Given the description of an element on the screen output the (x, y) to click on. 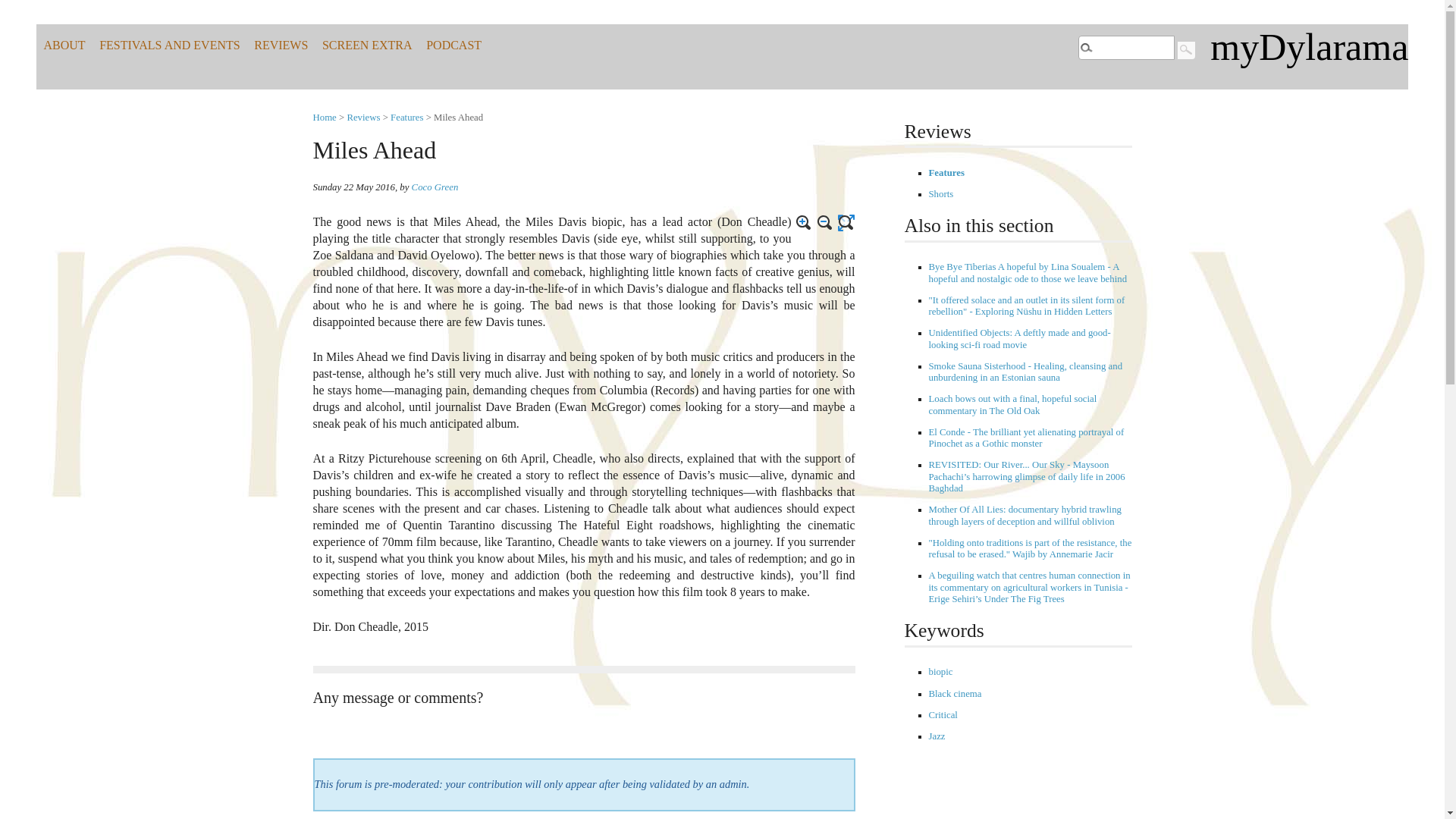
REVIEWS (280, 45)
ABOUT (64, 45)
Features (945, 172)
Enlarge the font (803, 222)
Features (406, 117)
Text only (846, 222)
PODCAST (453, 45)
